Given the description of an element on the screen output the (x, y) to click on. 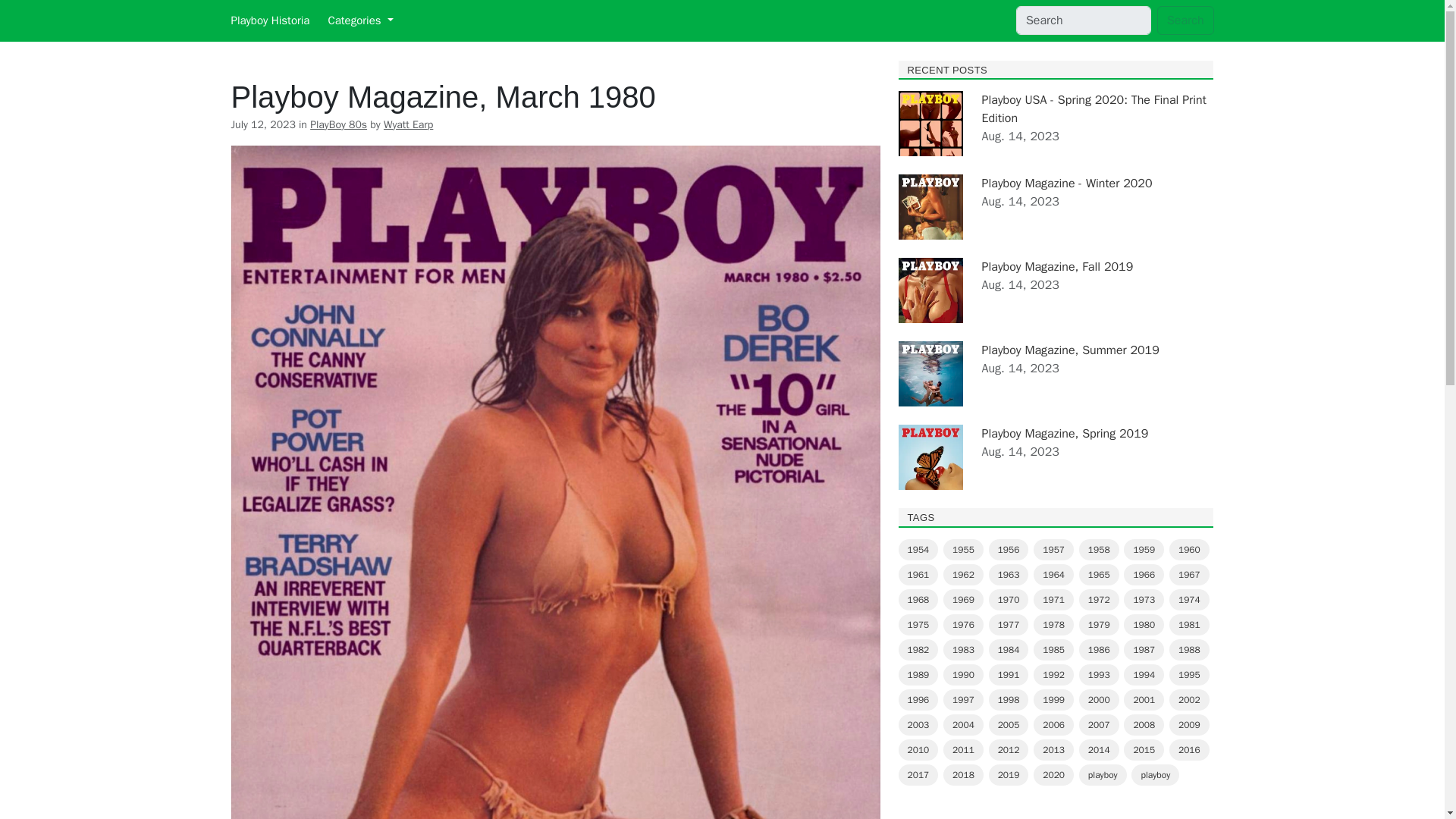
Playboy Magazine, Fall 2019 (1056, 266)
Playboy Magazine, Summer 2019 (1069, 350)
1961 (917, 574)
Categories (359, 20)
1960 (1189, 549)
Wyatt Earp (408, 124)
1957 (1053, 549)
1954 (917, 549)
Playboy Magazine - Winter 2020 (1066, 183)
Playboy Magazine, Spring 2019 (1064, 433)
1959 (1143, 549)
Playboy Historia (269, 20)
Search (1185, 20)
1955 (963, 549)
PlayBoy 80s (338, 124)
